Given the description of an element on the screen output the (x, y) to click on. 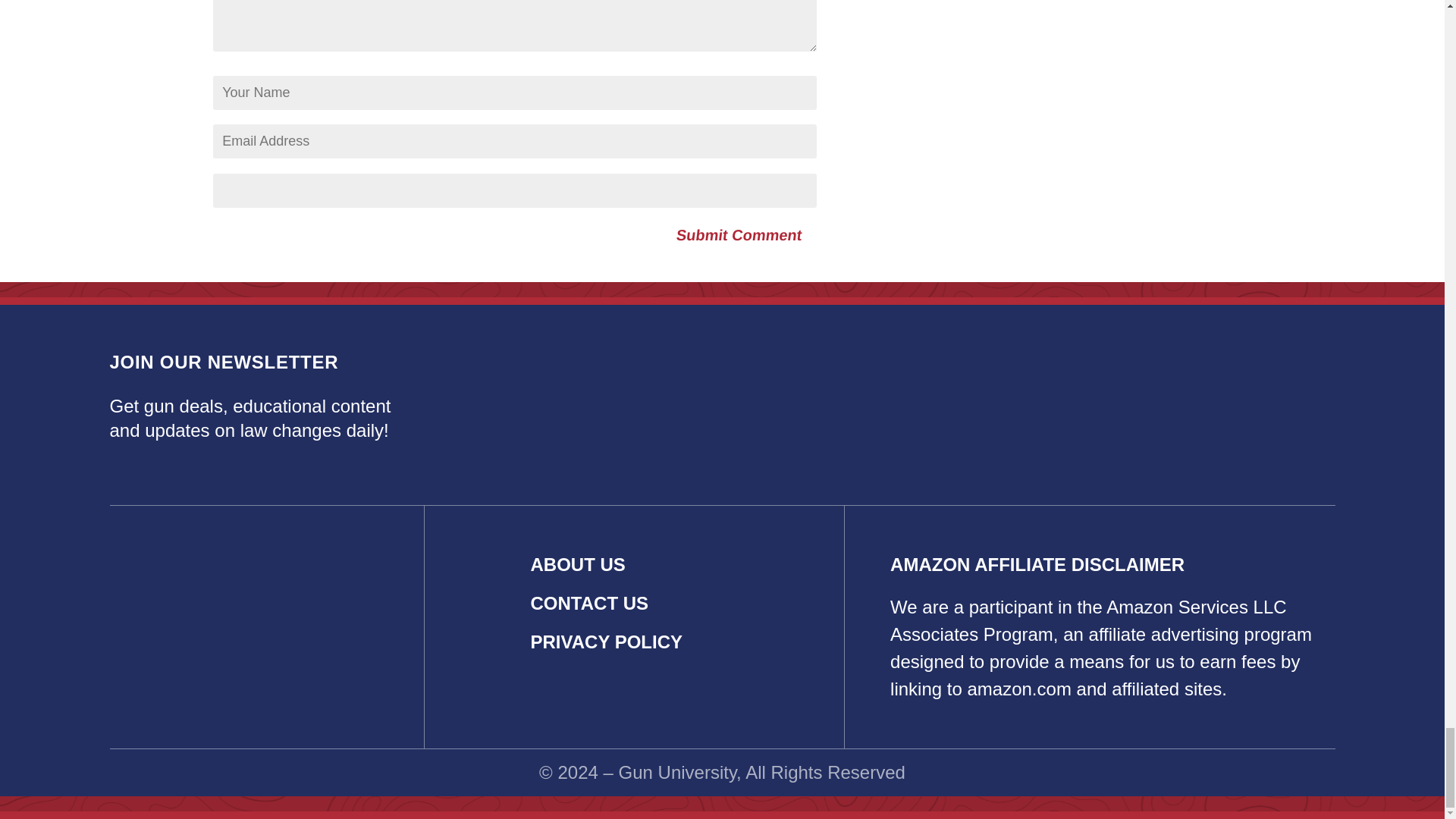
Submit Comment (737, 234)
